Given the description of an element on the screen output the (x, y) to click on. 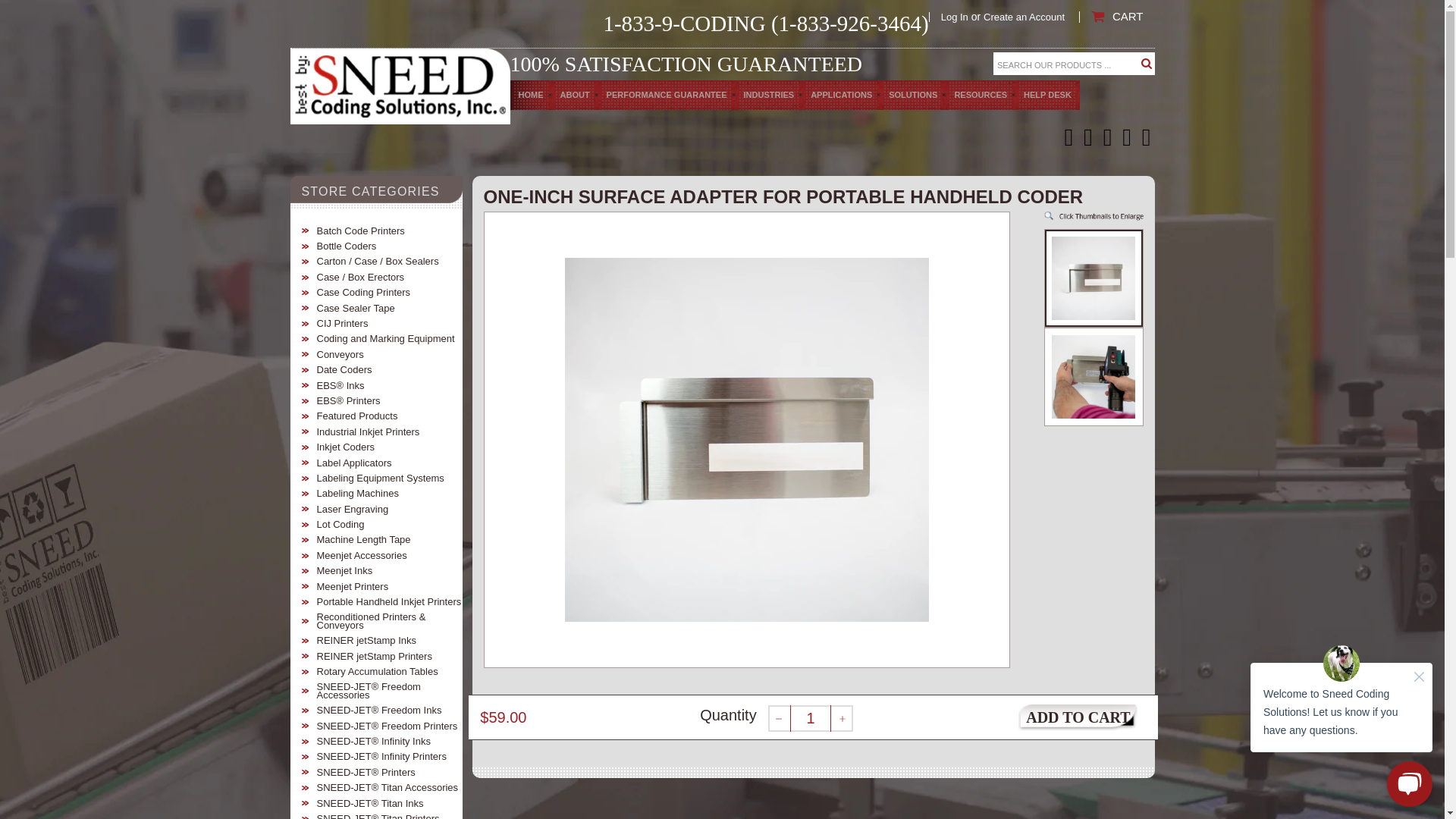
Create an Account (1024, 16)
1 (810, 718)
Log In (954, 16)
CART (1116, 16)
